Given the description of an element on the screen output the (x, y) to click on. 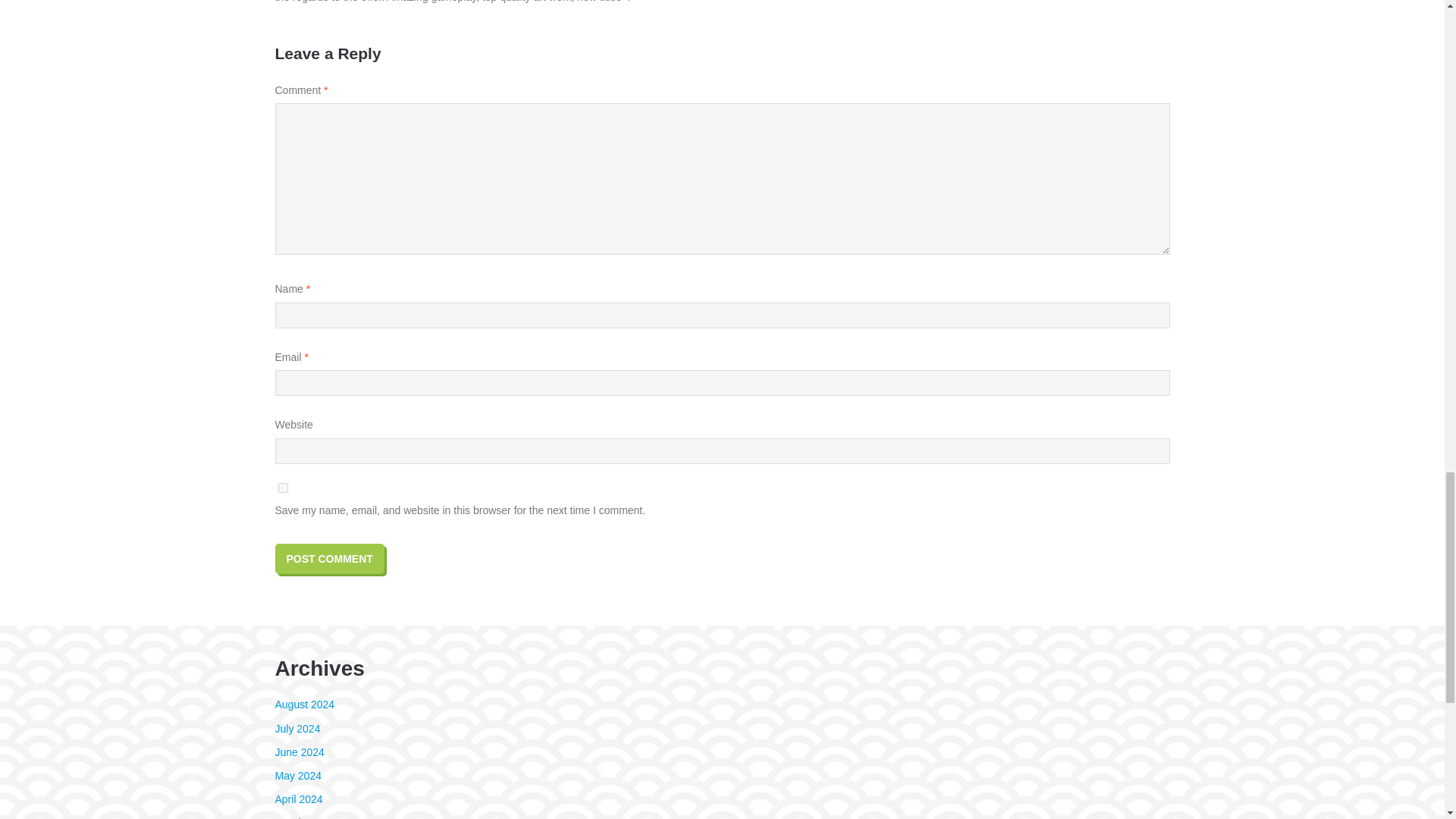
May 2024 (297, 775)
Post Comment (329, 558)
March 2024 (302, 817)
April 2024 (298, 799)
July 2024 (297, 728)
August 2024 (304, 704)
yes (282, 488)
June 2024 (299, 752)
Post Comment (329, 558)
